Given the description of an element on the screen output the (x, y) to click on. 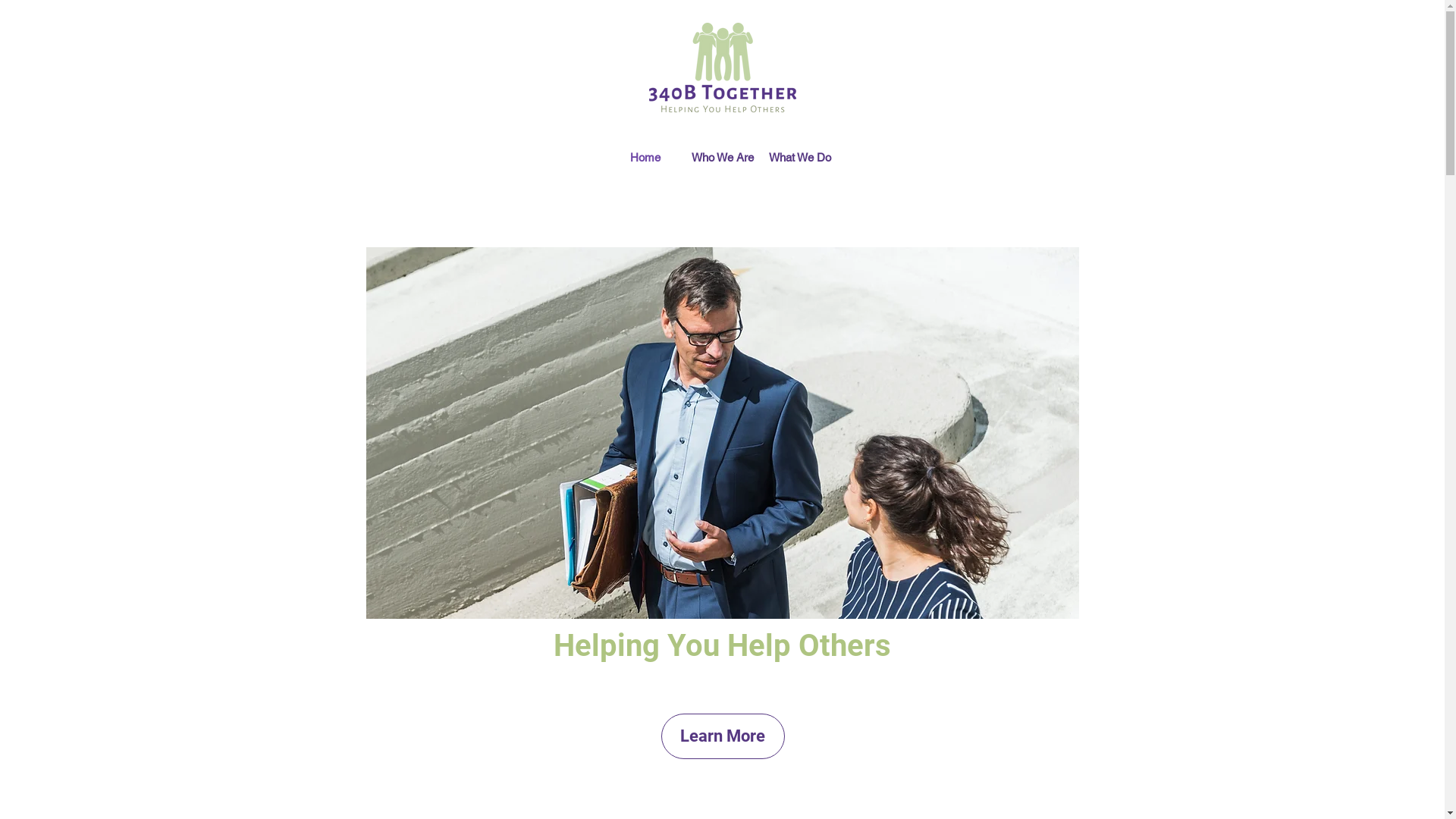
Home Element type: text (645, 157)
Who We Are Element type: text (722, 157)
Learn More Element type: text (722, 736)
What We Do Element type: text (799, 157)
